Given the description of an element on the screen output the (x, y) to click on. 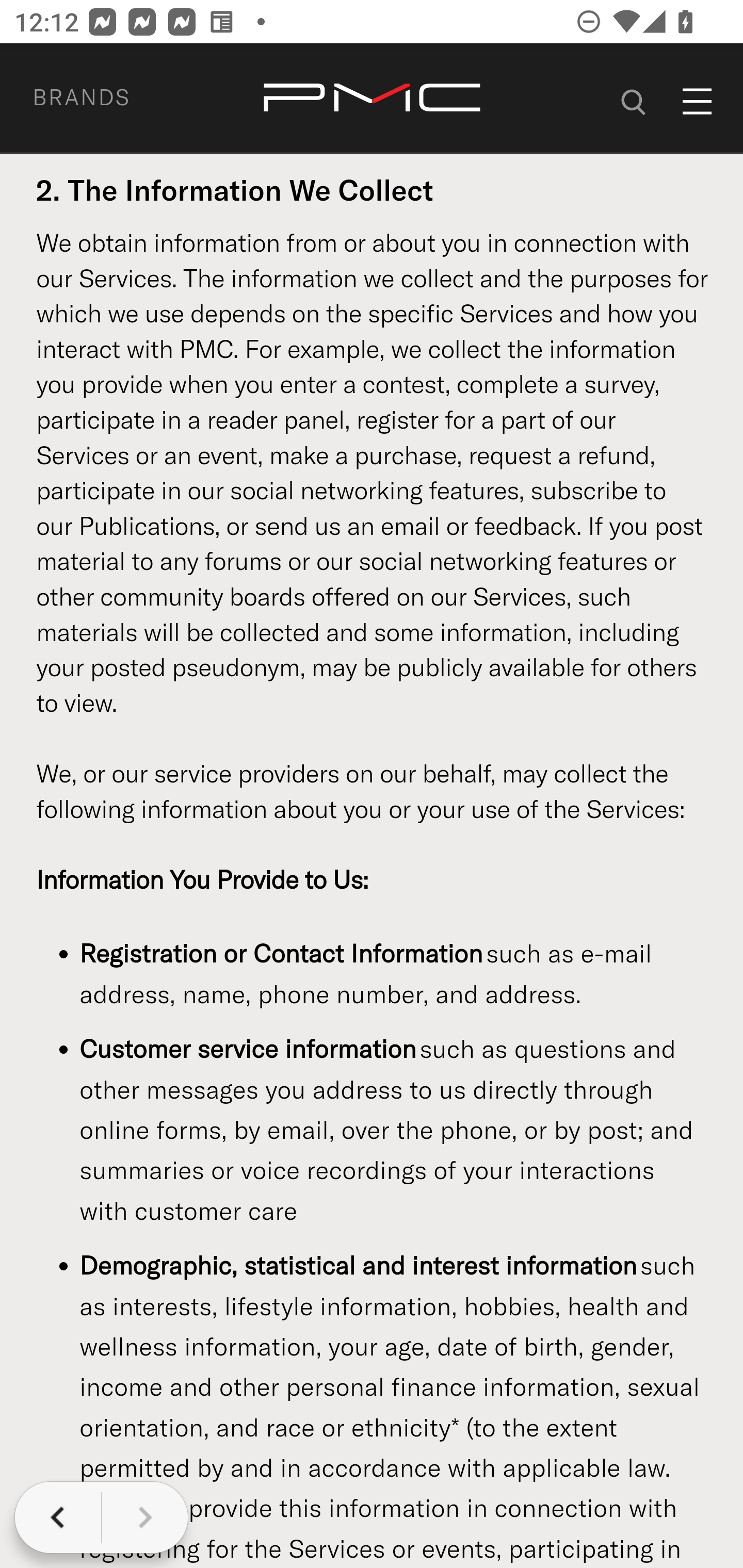
home (371, 97)
BRANDS (105, 96)
privacy-policy# (633, 98)
menu (697, 101)
